Given the description of an element on the screen output the (x, y) to click on. 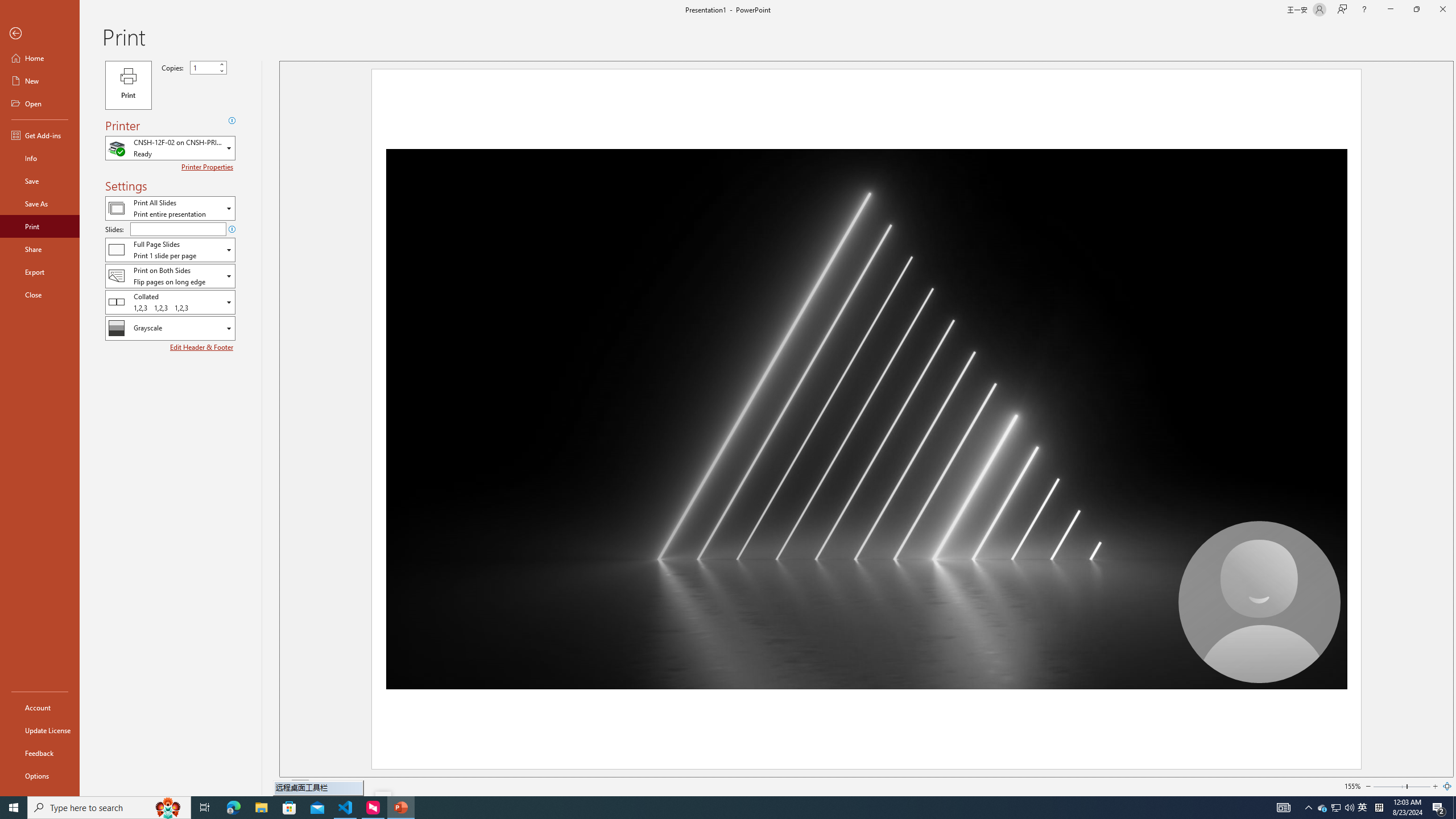
Save As (40, 203)
Printer Properties (208, 166)
Zoom to Page (1447, 786)
Export (40, 271)
Print What (169, 208)
Which Printer (169, 147)
Edit Header & Footer (202, 347)
Page left (1389, 786)
Collation (169, 301)
Current Page (300, 786)
